Given the description of an element on the screen output the (x, y) to click on. 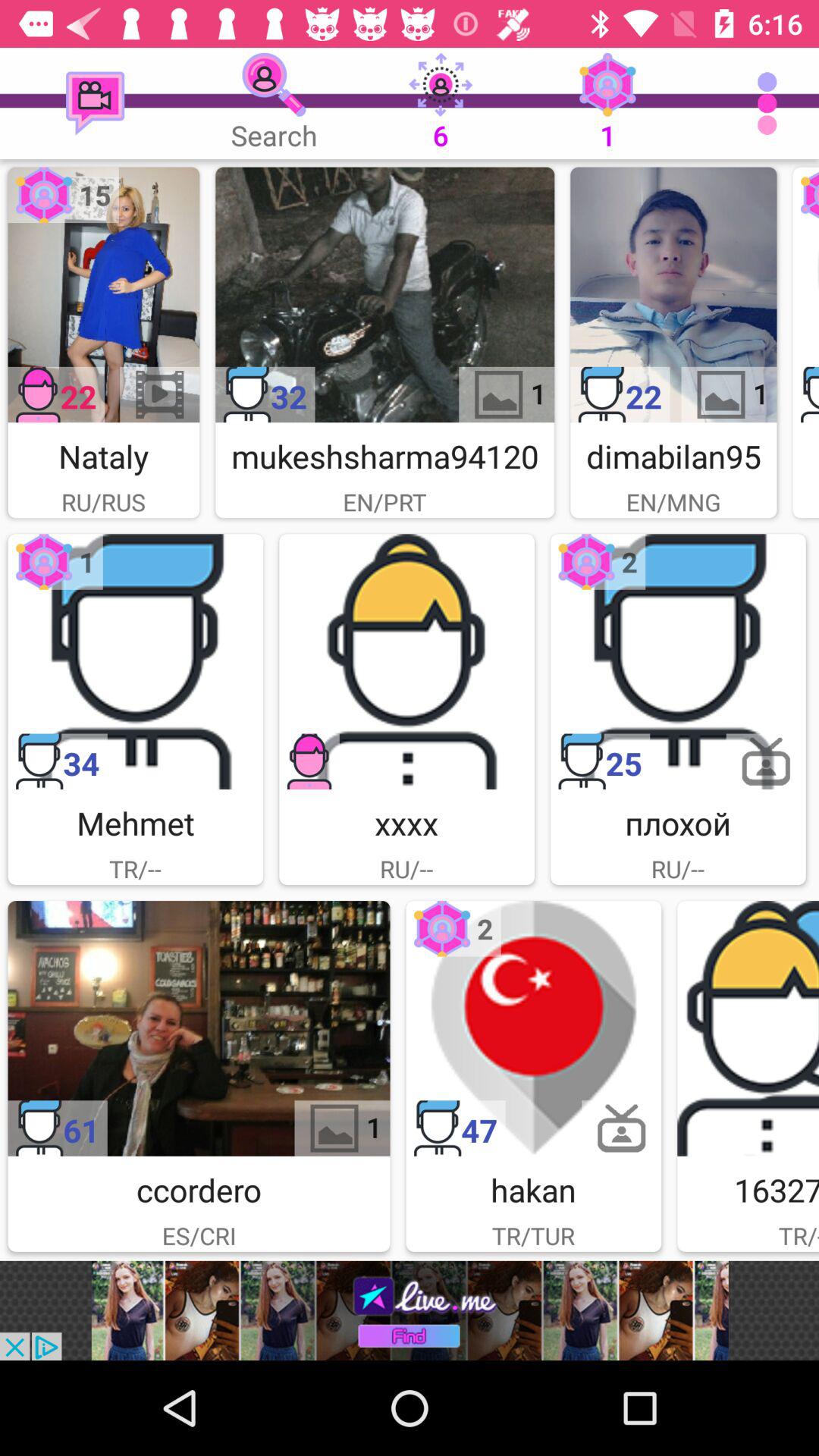
choose person (406, 661)
